Given the description of an element on the screen output the (x, y) to click on. 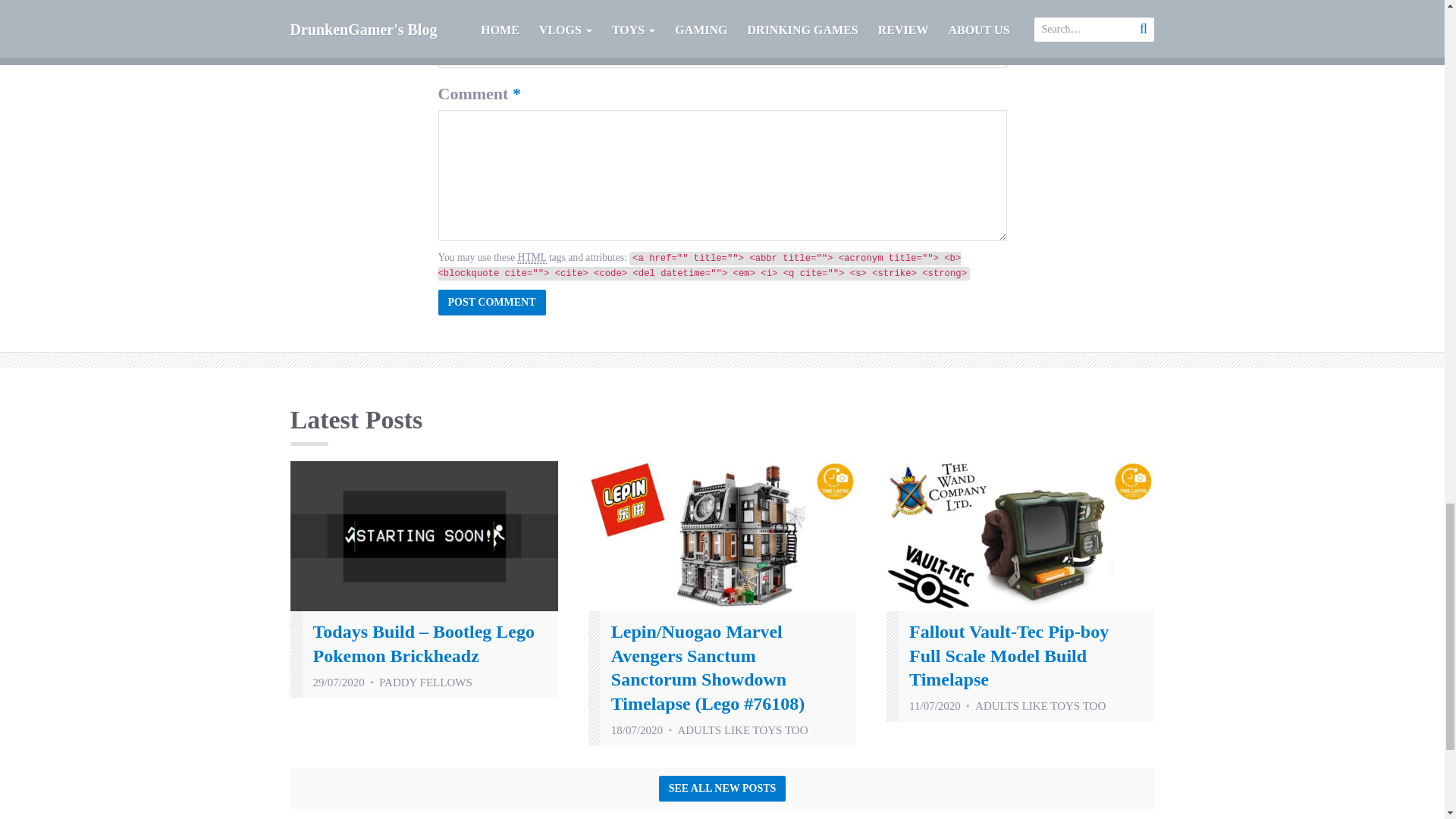
Saturday, July 18th, 2020, 3:00 pm (636, 729)
Saturday, July 11th, 2020, 3:00 pm (934, 705)
Post Comment (492, 302)
Wednesday, July 29th, 2020, 7:49 am (338, 682)
HyperText Markup Language (532, 257)
